Given the description of an element on the screen output the (x, y) to click on. 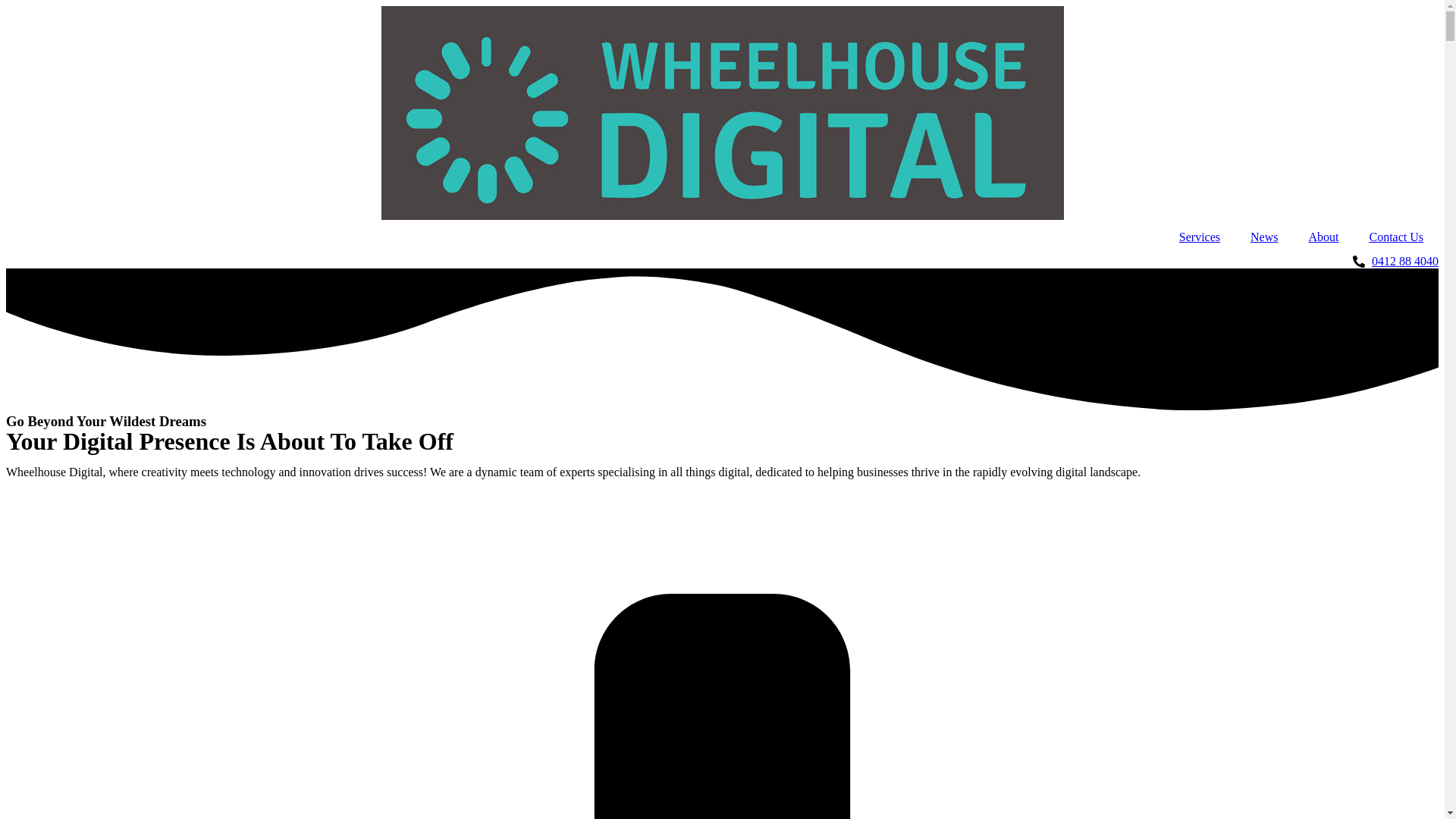
News Element type: text (1263, 236)
Skip to content Element type: text (5, 5)
Services Element type: text (1199, 236)
0412 88 4040 Element type: text (722, 261)
Contact Us Element type: text (1395, 236)
About Element type: text (1322, 236)
